Given the description of an element on the screen output the (x, y) to click on. 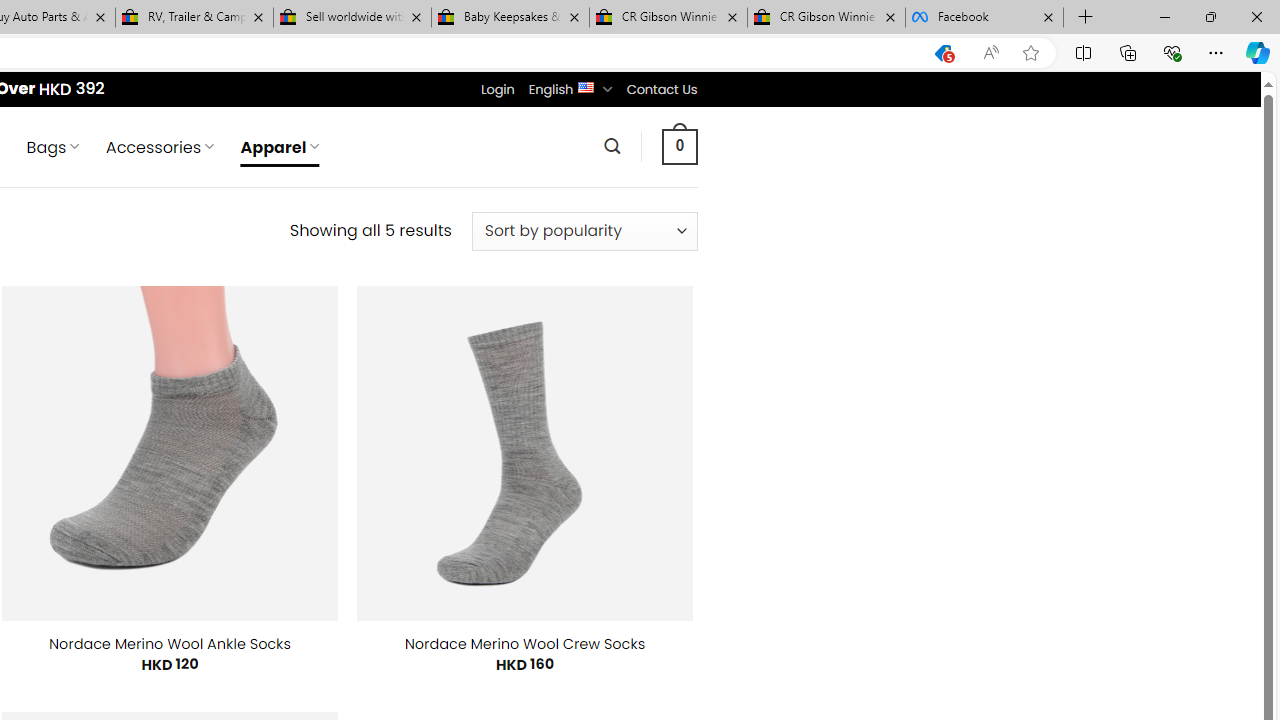
Nordace Merino Wool Ankle Socks (169, 643)
Nordace Merino Wool Crew Socks (525, 643)
This site has coupons! Shopping in Microsoft Edge, 5 (943, 53)
English (586, 86)
